Given the description of an element on the screen output the (x, y) to click on. 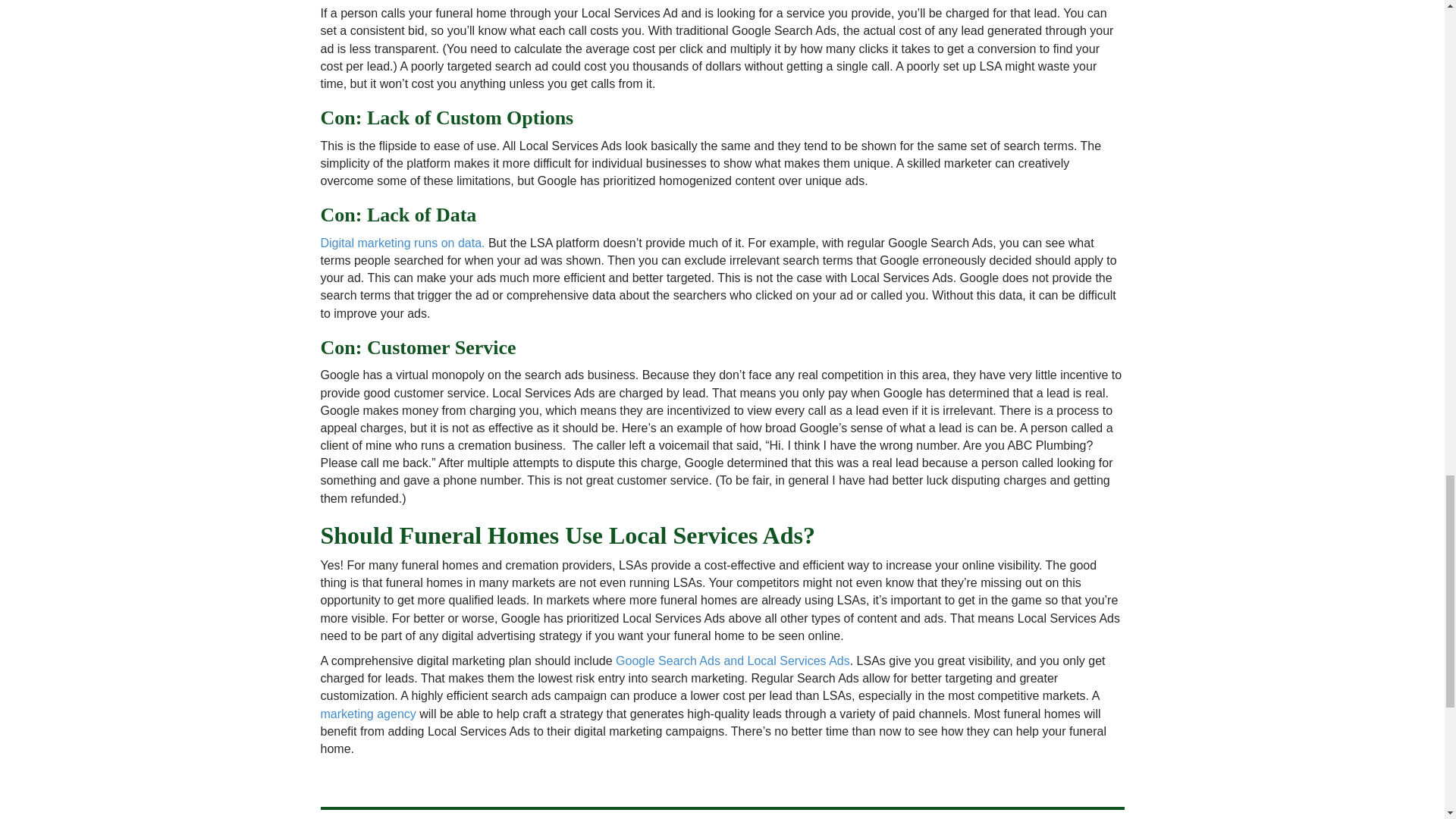
Digital marketing runs on data. (402, 242)
Google Search Ads and Local Services Ads (732, 660)
marketing agency (367, 713)
